Given the description of an element on the screen output the (x, y) to click on. 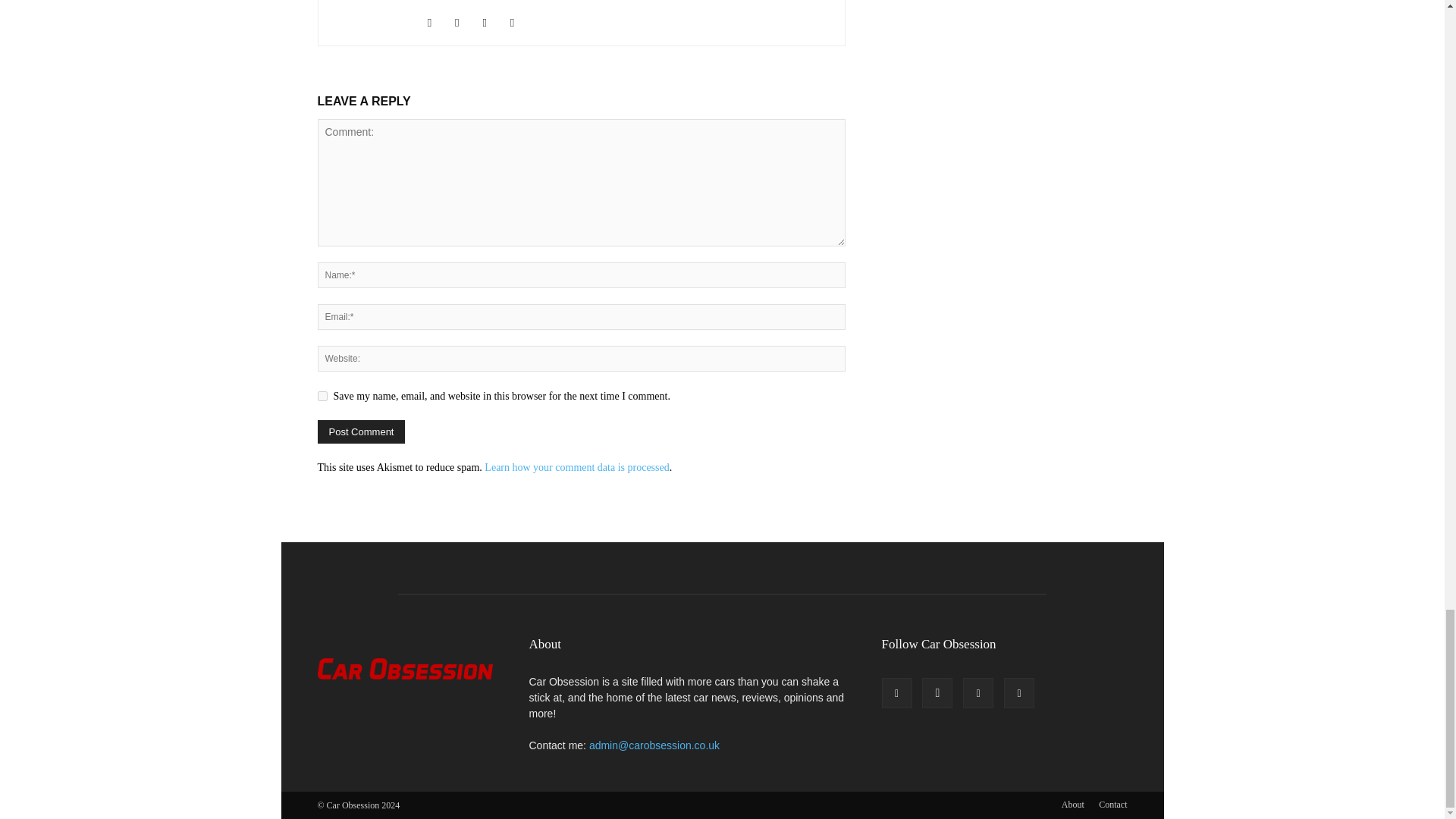
yes (321, 396)
Post Comment (360, 431)
